Given the description of an element on the screen output the (x, y) to click on. 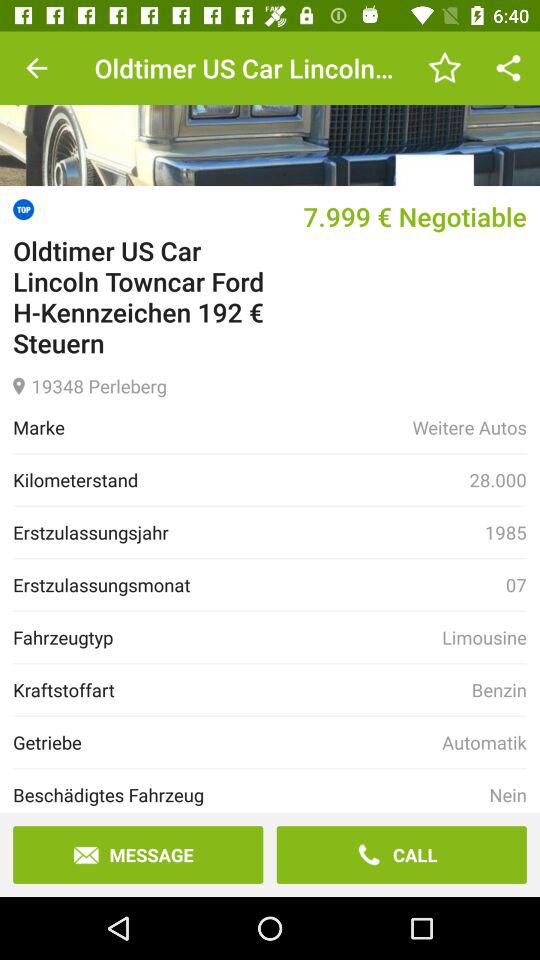
tap item next to oldtimer us car item (444, 67)
